Given the description of an element on the screen output the (x, y) to click on. 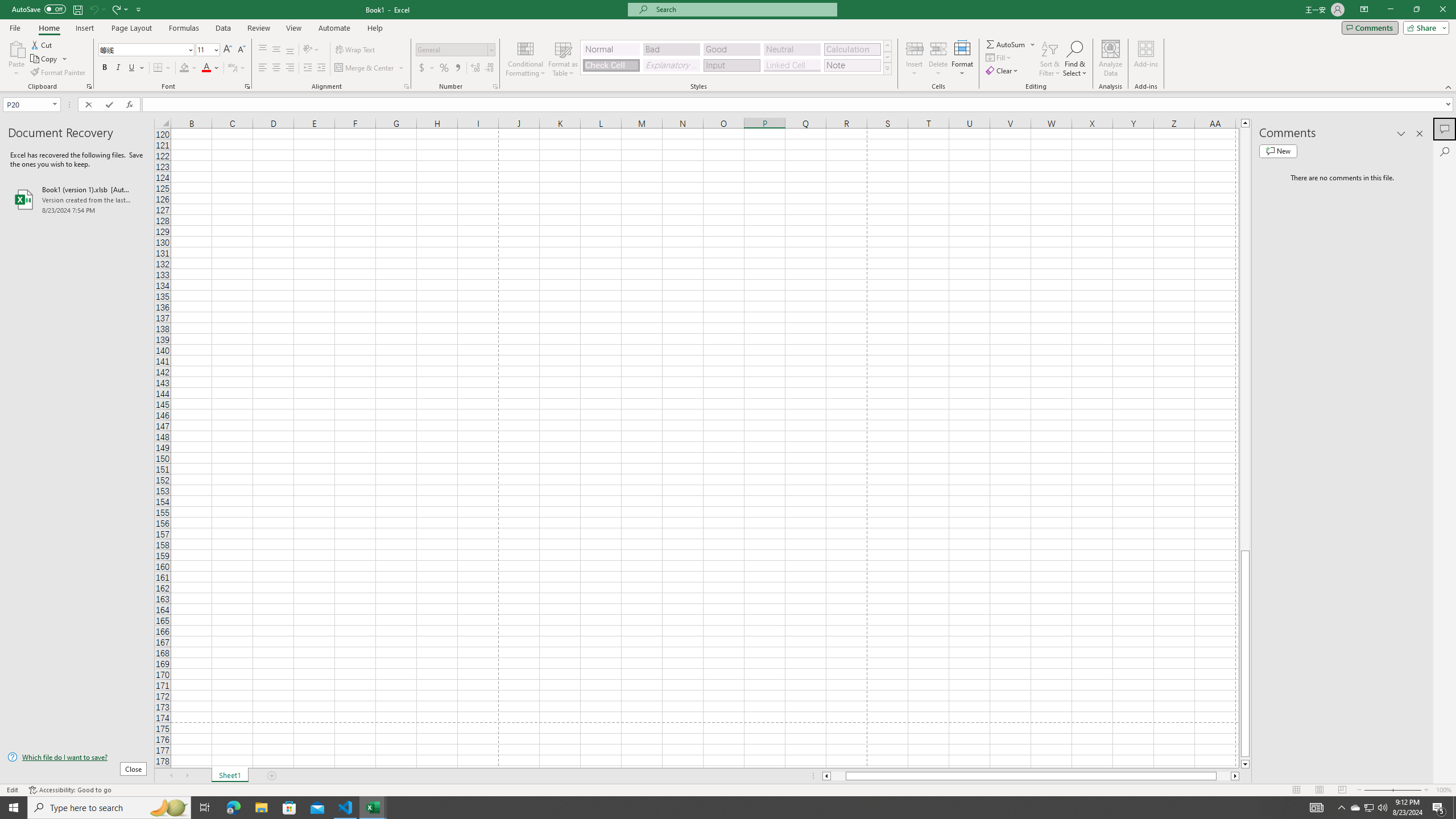
Accounting Number Format (426, 67)
Explanatory Text (671, 65)
Borders (162, 67)
Merge & Center (369, 67)
Font Color RGB(255, 0, 0) (206, 67)
Align Right (290, 67)
Format (962, 58)
